Given the description of an element on the screen output the (x, y) to click on. 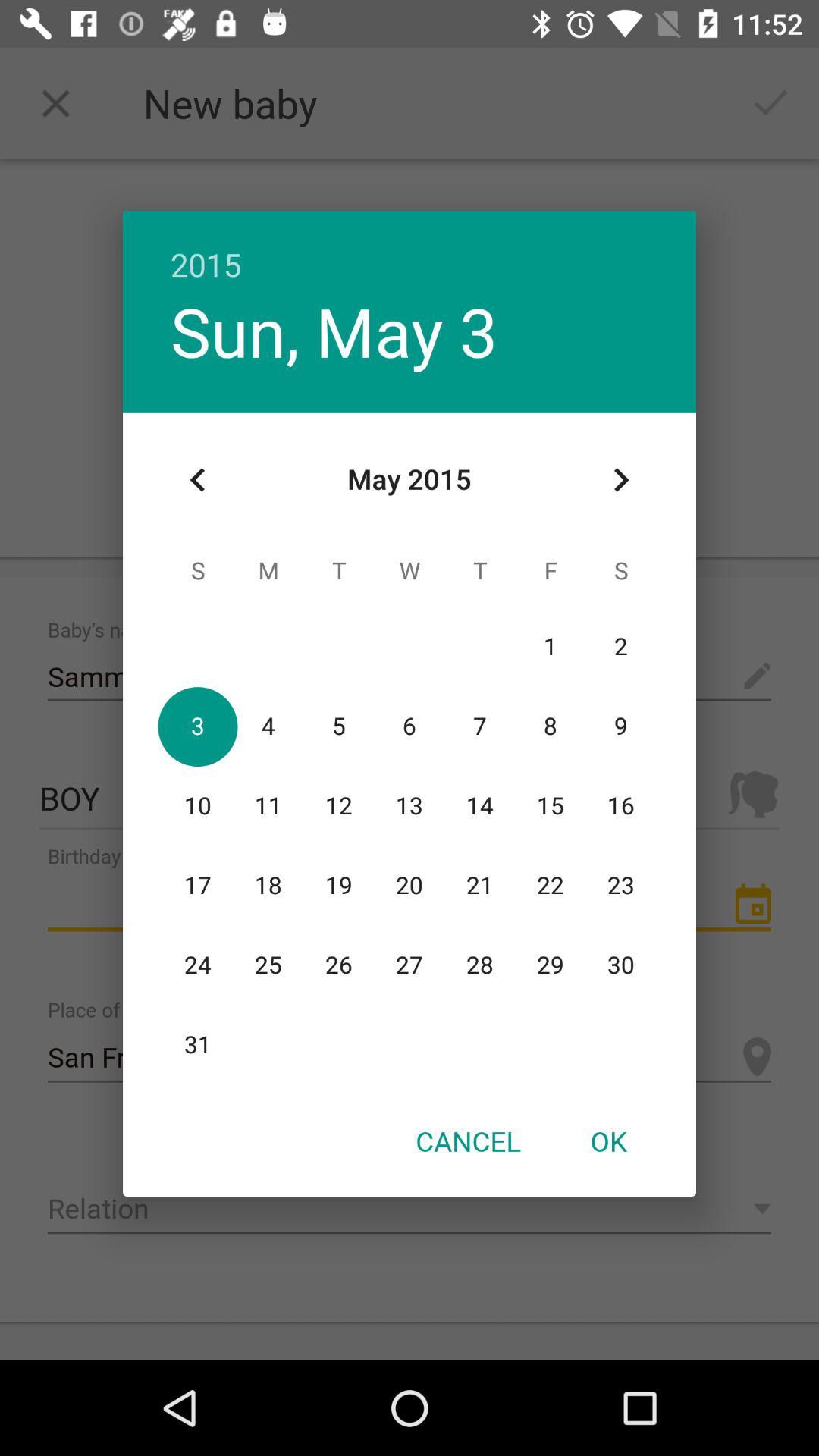
click the item below the sun, may 3 icon (197, 479)
